Given the description of an element on the screen output the (x, y) to click on. 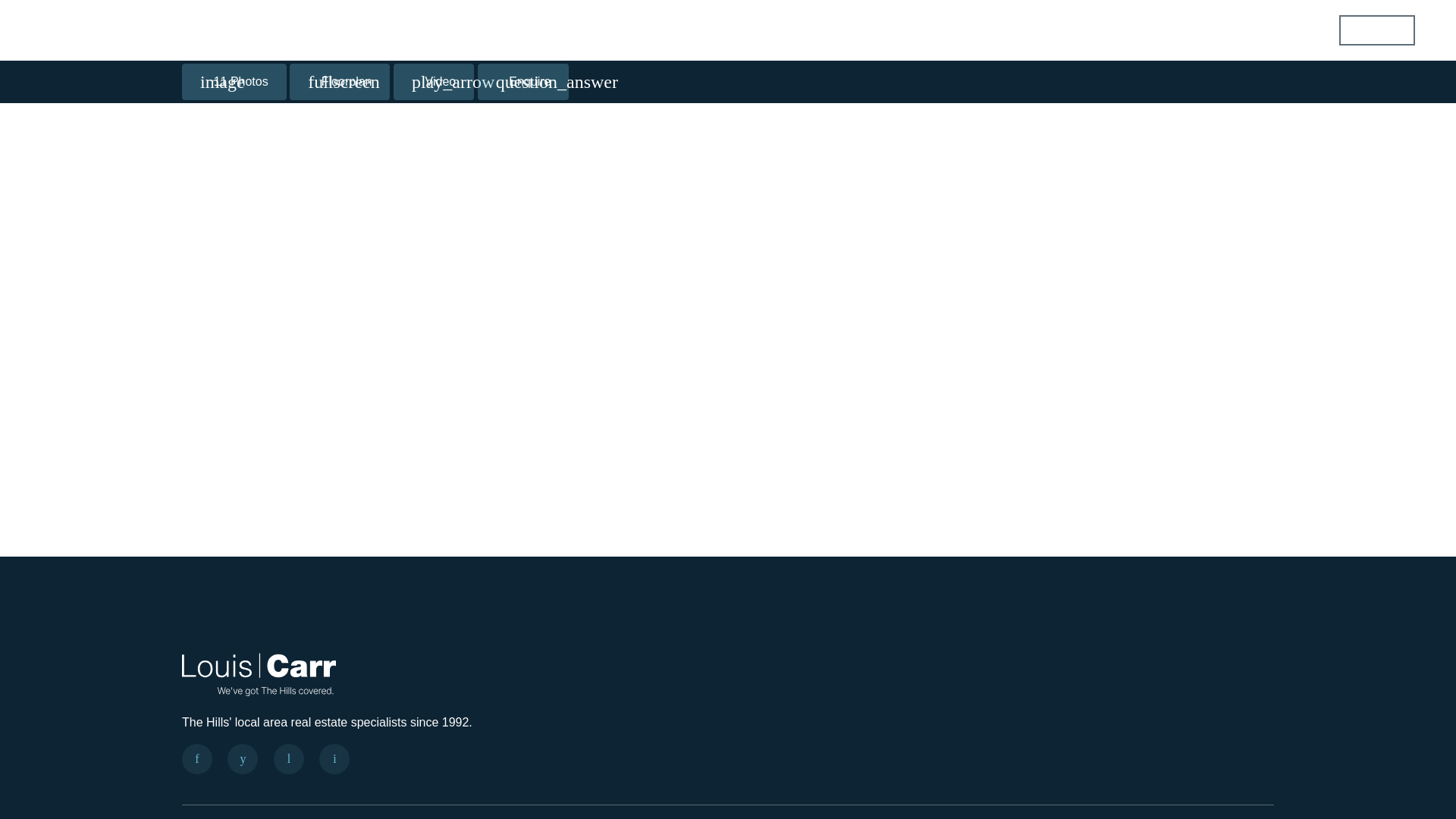
Louis Carr - We've got The Hills covered. (259, 671)
